Given the description of an element on the screen output the (x, y) to click on. 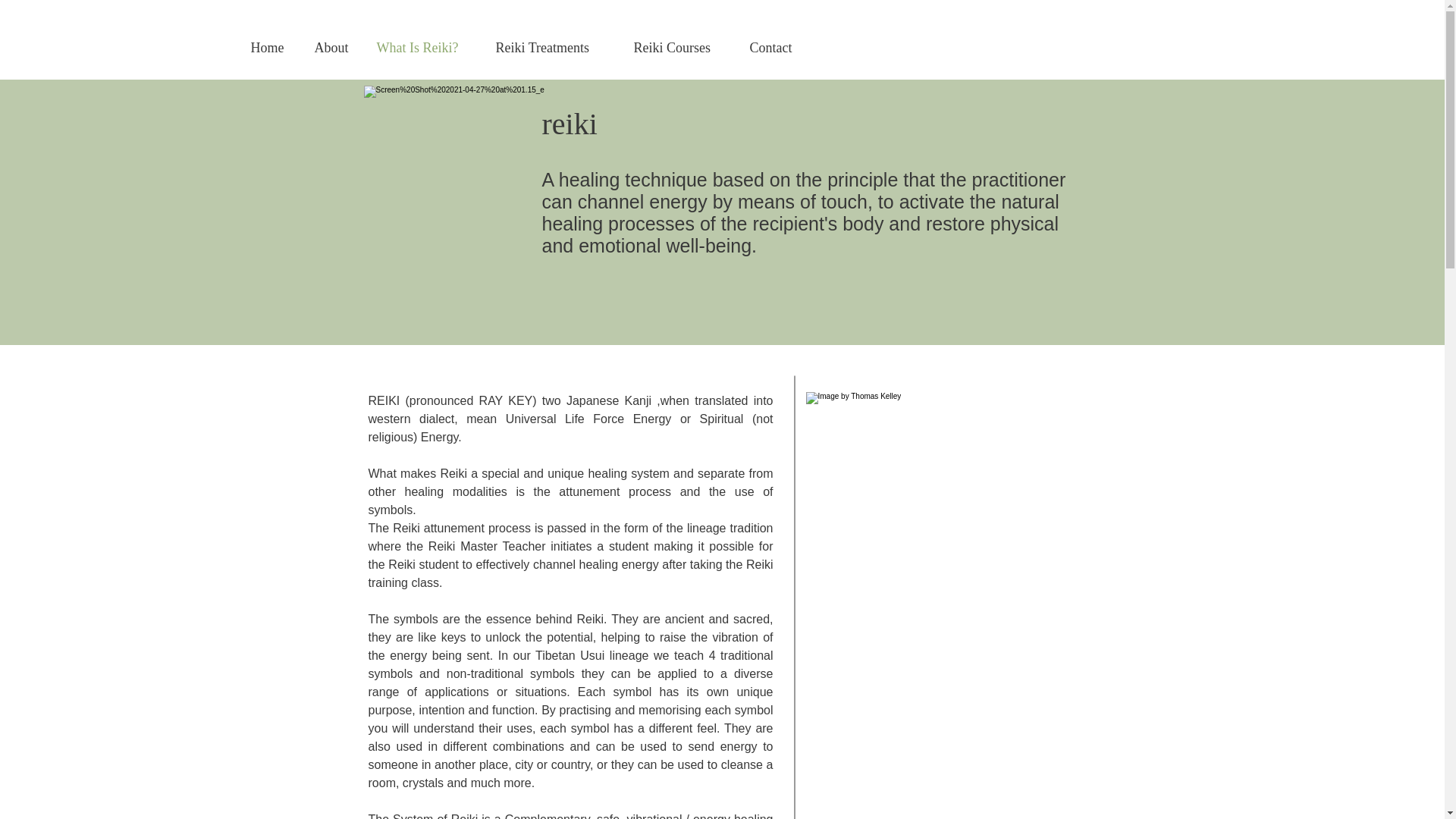
Reiki Treatments (552, 47)
About (333, 47)
Reiki training class (570, 572)
What Is Reiki? (424, 47)
Reiki Courses (679, 47)
Home (271, 47)
Contact (775, 47)
